Given the description of an element on the screen output the (x, y) to click on. 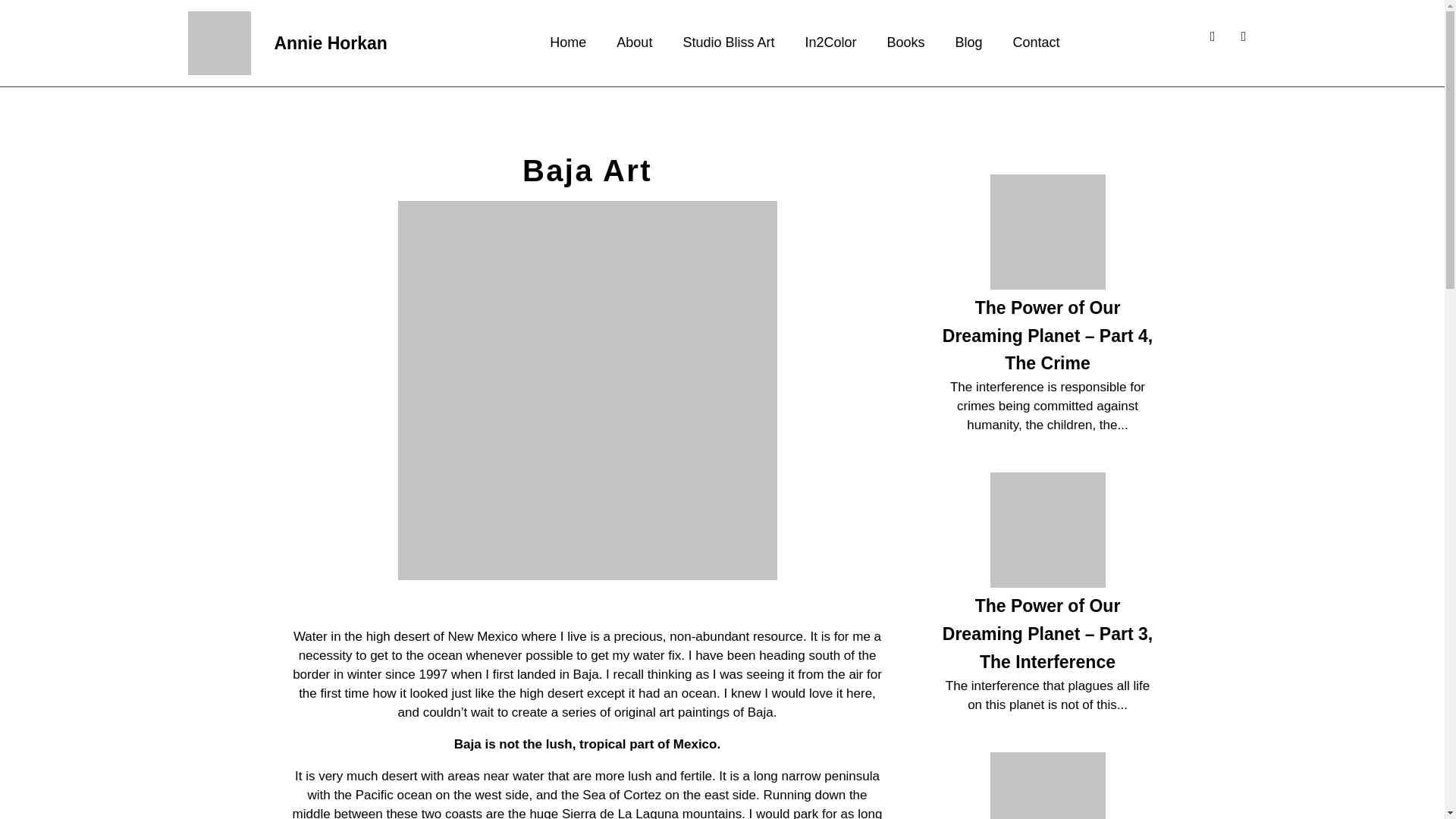
Contact (1036, 42)
Studio Bliss Art (727, 42)
Blog (968, 42)
Annie Horkan (330, 43)
Home (567, 42)
In2Color (829, 42)
Books (906, 42)
About (633, 42)
